Given the description of an element on the screen output the (x, y) to click on. 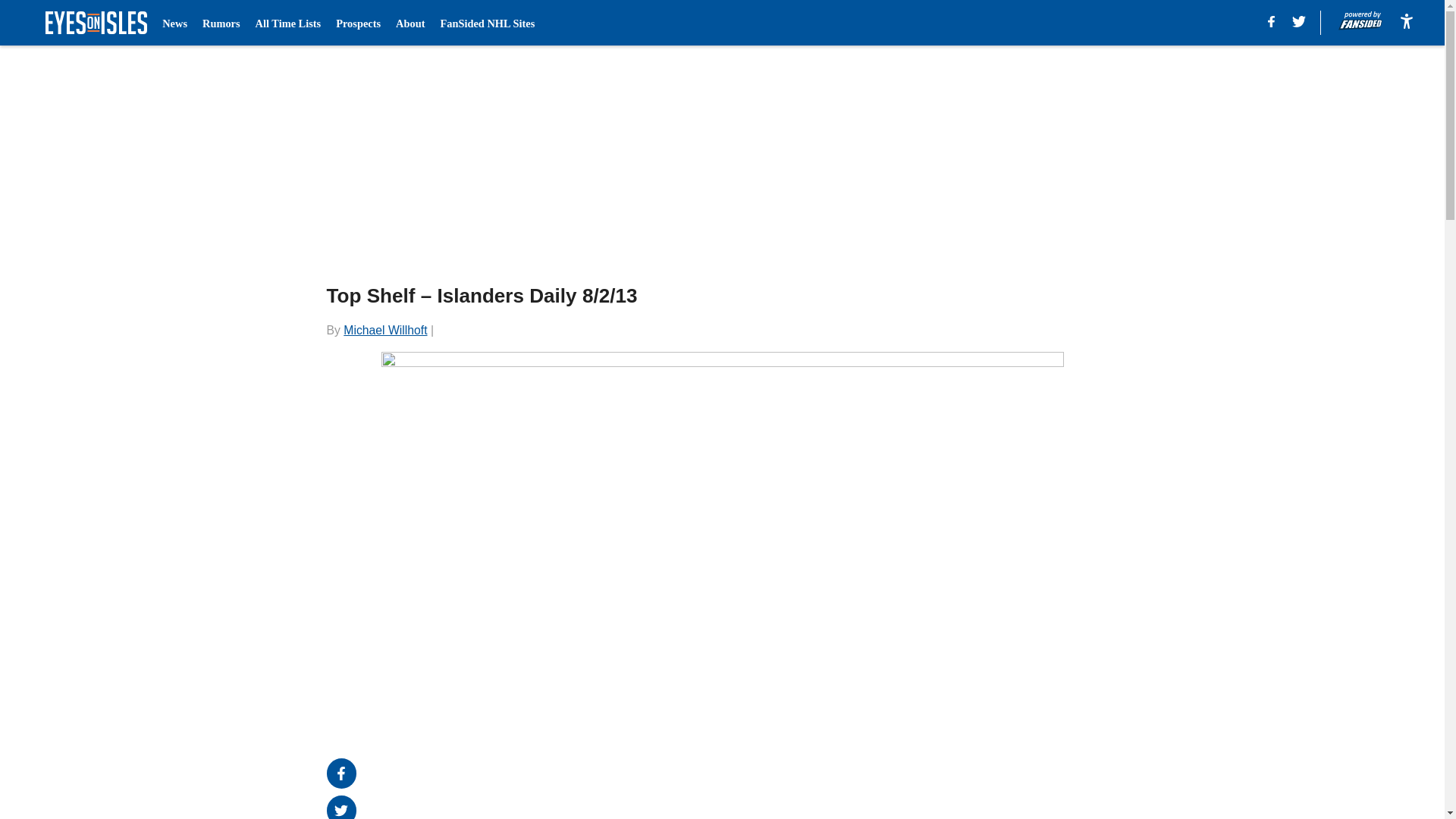
Rumors (221, 23)
News (174, 23)
All Time Lists (288, 23)
FanSided NHL Sites (486, 23)
Michael Willhoft (384, 329)
About (410, 23)
Prospects (358, 23)
